Given the description of an element on the screen output the (x, y) to click on. 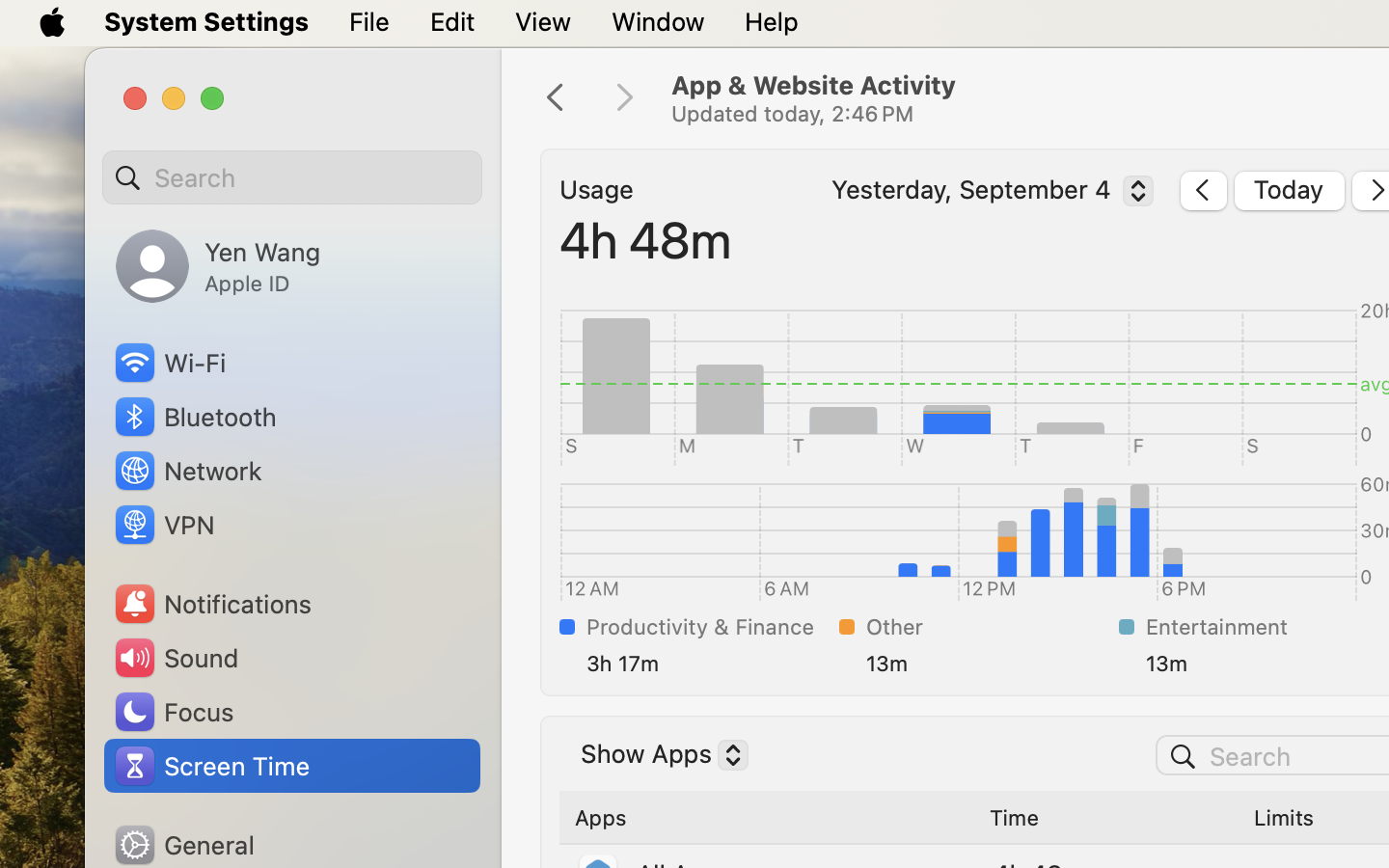
VPN Element type: AXStaticText (162, 524)
Sound Element type: AXStaticText (175, 657)
Notifications Element type: AXStaticText (211, 603)
4h 48m Element type: AXStaticText (645, 239)
General Element type: AXStaticText (182, 844)
